Given the description of an element on the screen output the (x, y) to click on. 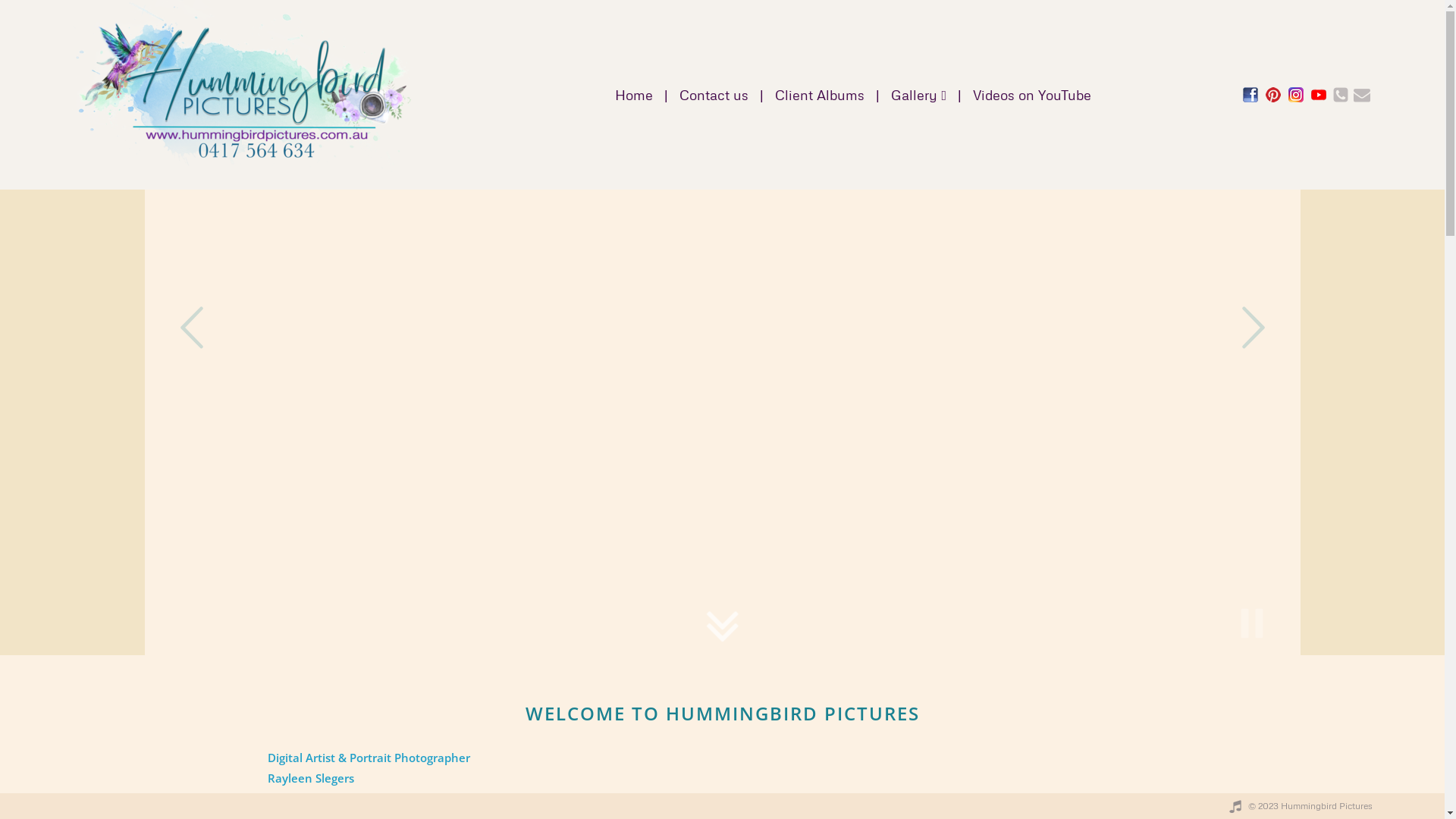
Client Albums Element type: text (819, 94)
Home Element type: text (633, 94)
Hummingbird Pictures Element type: hover (243, 94)
Videos on YouTube Element type: text (1031, 94)
Contact us Element type: text (713, 94)
